Given the description of an element on the screen output the (x, y) to click on. 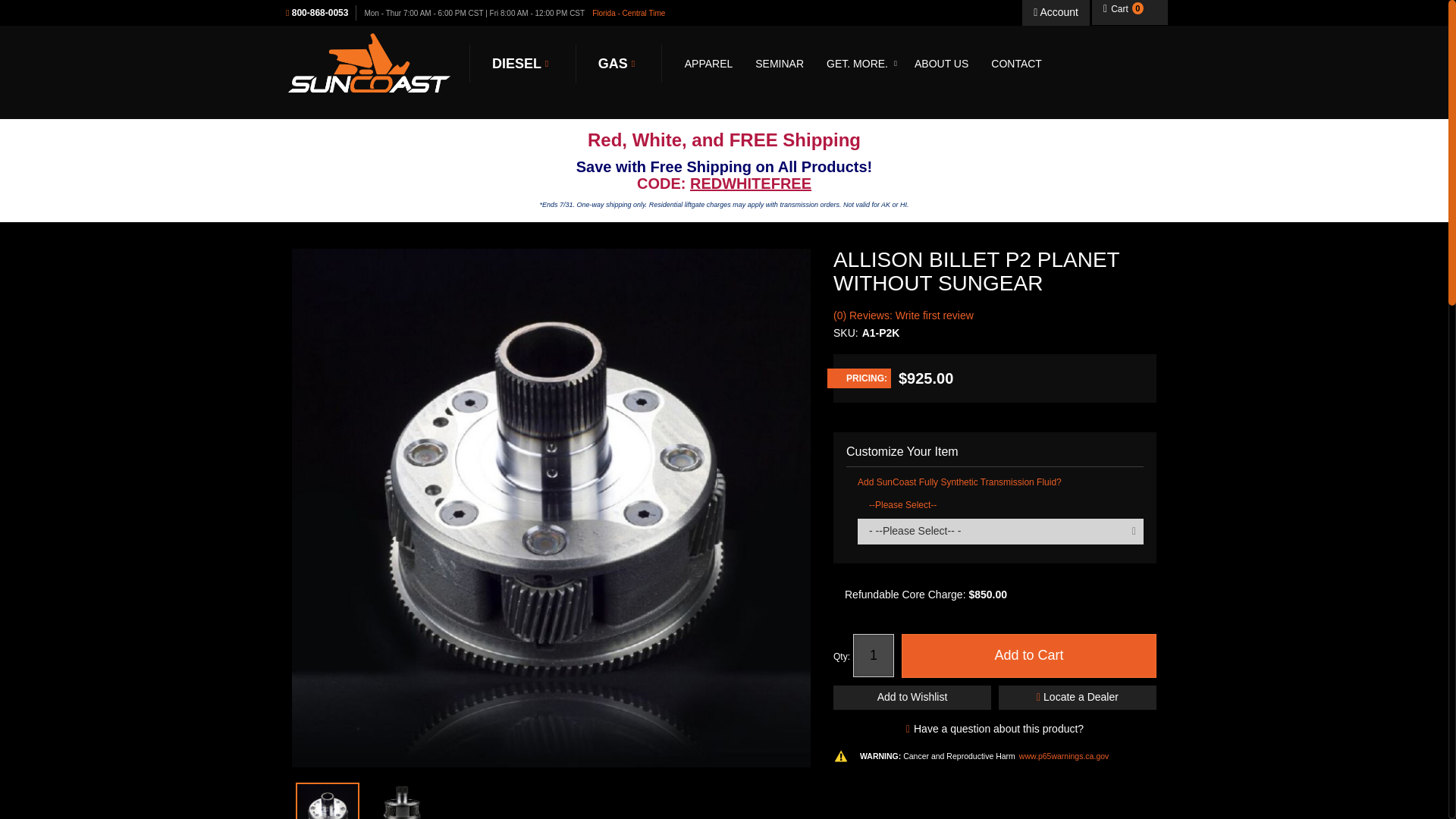
800-868-0053 (320, 12)
Account (1055, 12)
Suncoast Diesel (521, 64)
call us (320, 12)
DIESEL (521, 64)
1 (873, 655)
